Given the description of an element on the screen output the (x, y) to click on. 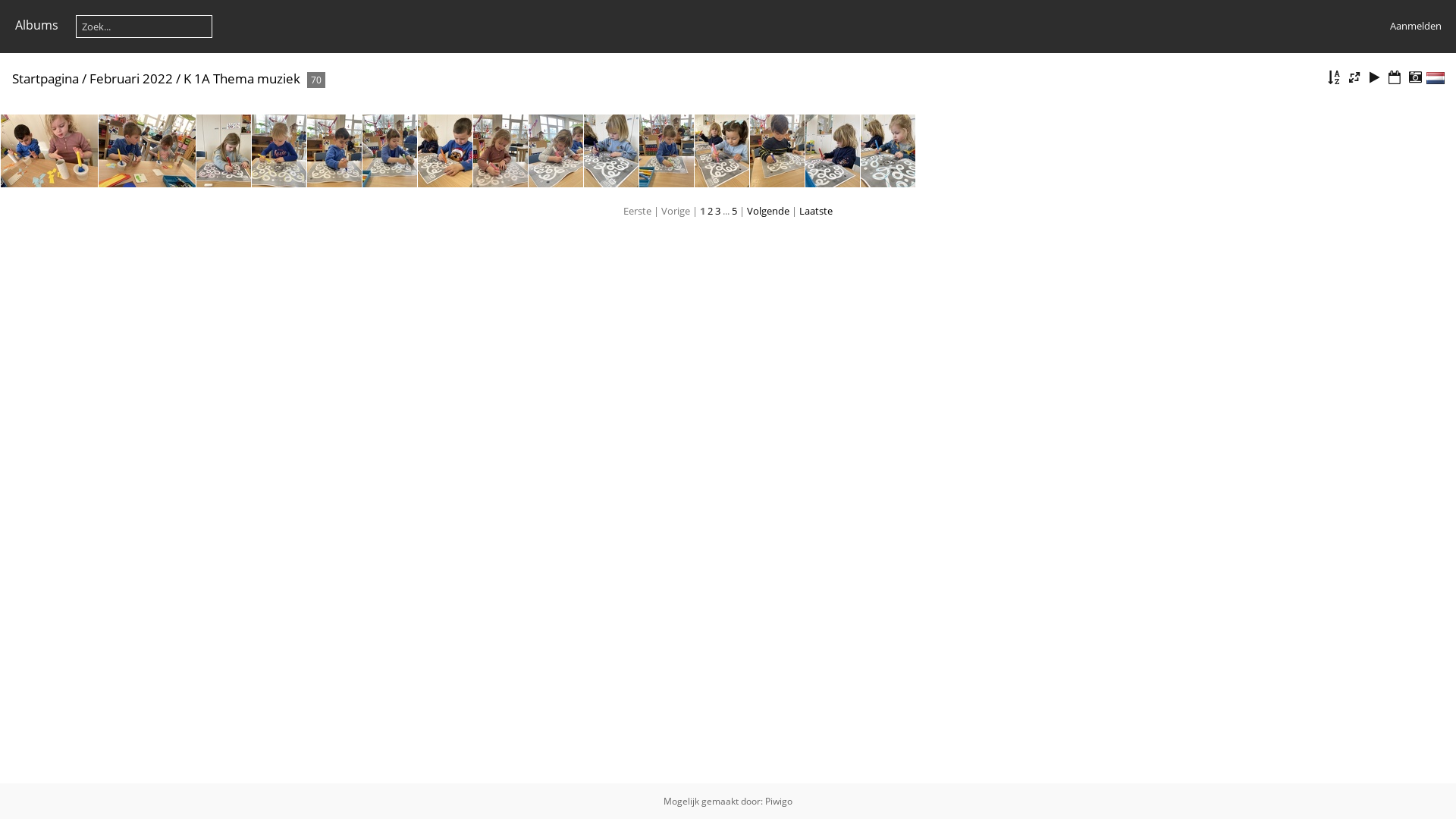
Sorteervolgorde Element type: hover (1333, 77)
Toon een kalender, ingedeeld op plaatsingsdatum Element type: hover (1394, 77)
Taal Element type: hover (1436, 77)
Volgende Element type: text (767, 210)
3 Element type: text (717, 210)
  Element type: text (1436, 77)
Aanmelden Element type: text (1414, 25)
5 Element type: text (734, 210)
Toon een kalender, ingedeeld op aanmaakdatum Element type: hover (1414, 77)
dia-voorstelling Element type: hover (1374, 77)
K 1A Thema muziek Element type: text (241, 78)
Februari 2022 Element type: text (130, 78)
Albums Element type: text (36, 24)
Piwigo Element type: text (778, 800)
Laatste Element type: text (815, 210)
Startpagina Element type: text (45, 78)
2 Element type: text (709, 210)
Fotogroottes Element type: hover (1354, 77)
